Given the description of an element on the screen output the (x, y) to click on. 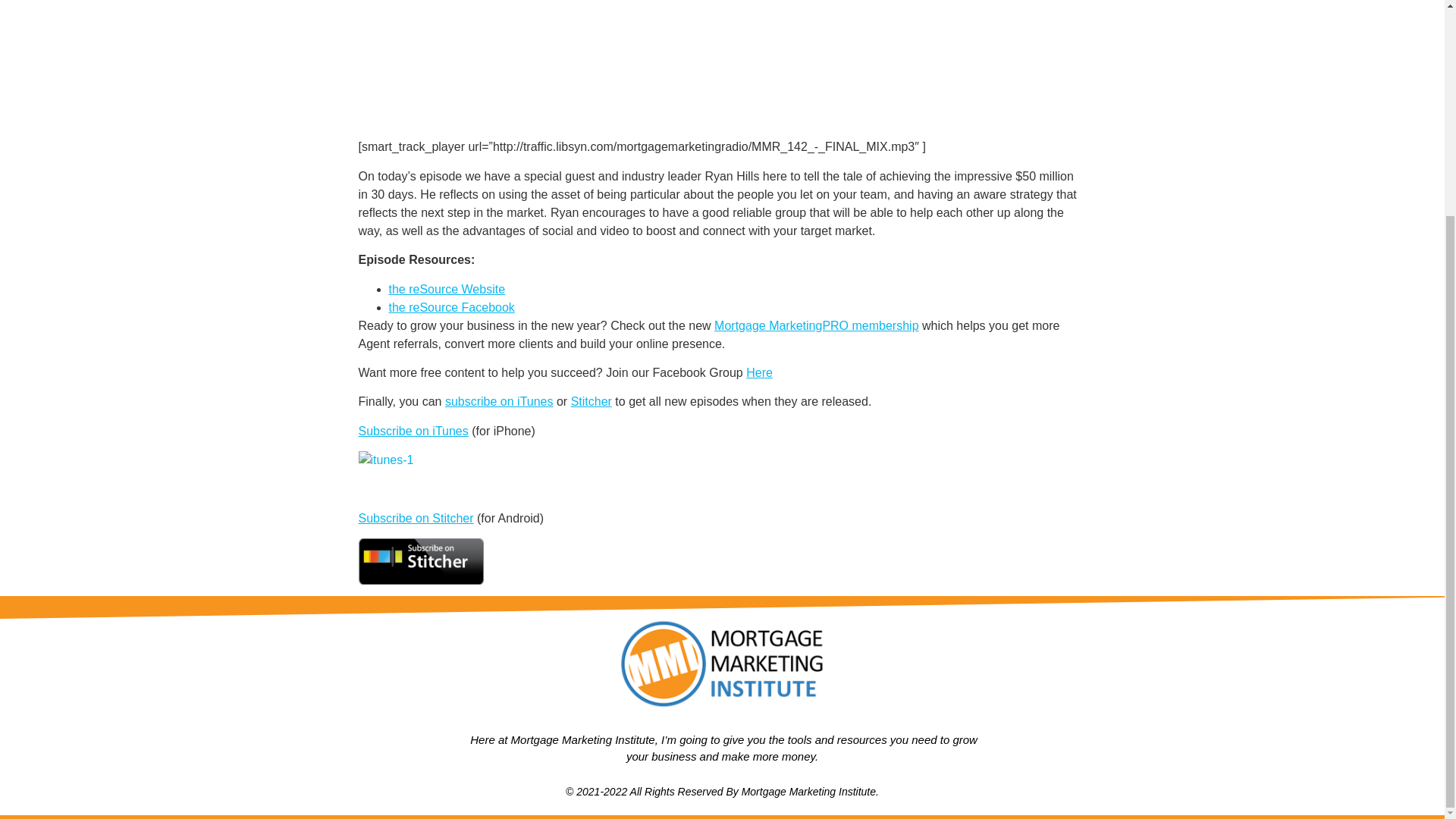
Mortgage MarketingPRO membership (816, 325)
the reSource Facebook (450, 307)
Stitcher (590, 400)
the reSource Website (446, 288)
Subscribe on Stitcher (415, 517)
Here (759, 372)
subscribe on iTunes (499, 400)
Subscribe on iTunes (412, 431)
